Given the description of an element on the screen output the (x, y) to click on. 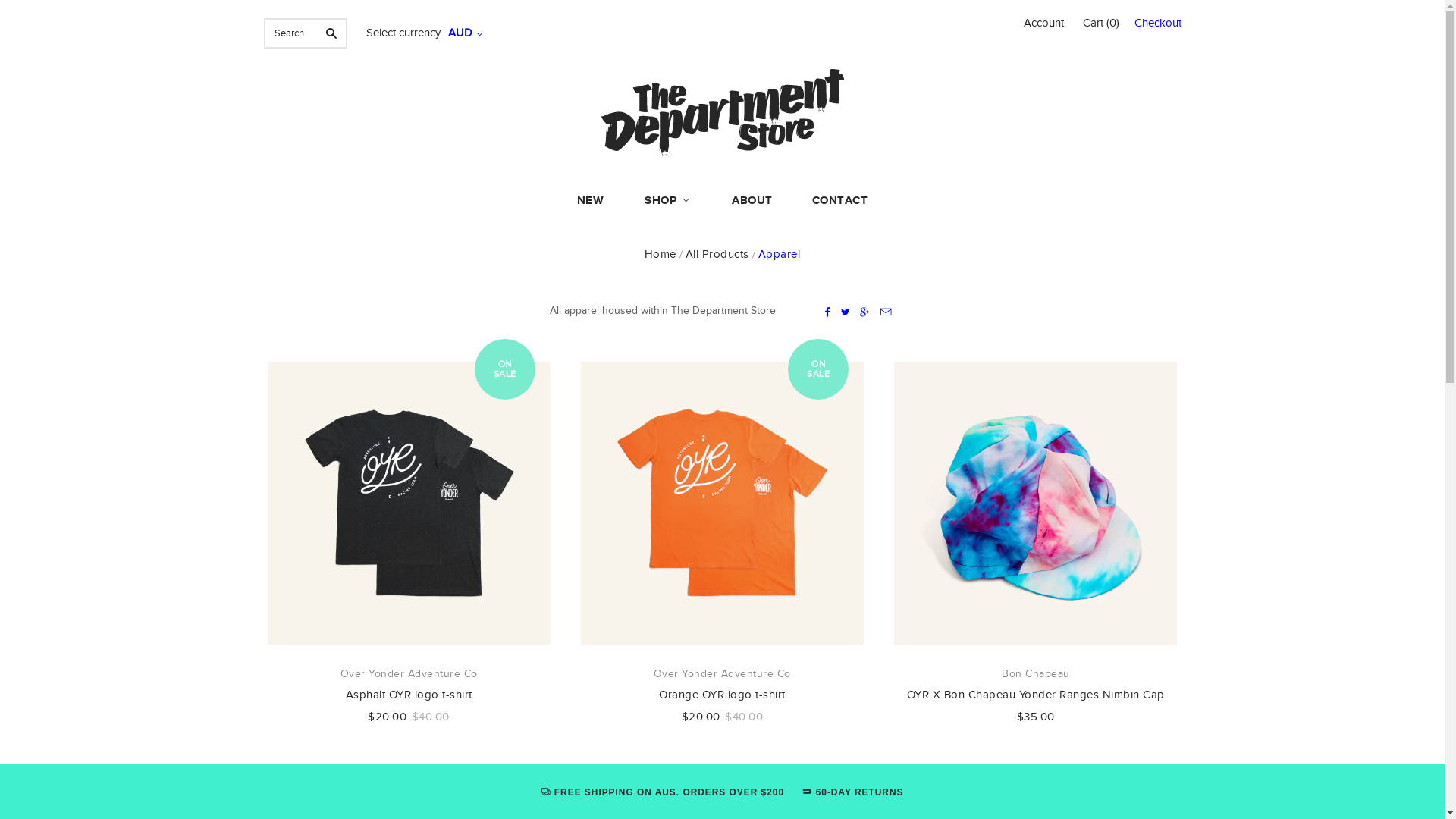
SHOP Element type: text (667, 200)
All Products Element type: text (717, 253)
NEW Element type: text (590, 200)
CONTACT Element type: text (840, 200)
Orange OYR logo t-shirt Element type: text (721, 694)
Bon Chapeau Element type: text (1035, 674)
ABOUT Element type: text (752, 200)
Home Element type: text (660, 253)
Asphalt OYR logo t-shirt Element type: text (408, 694)
OYR X Bon Chapeau Yonder Ranges Nimbin Cap Element type: text (1035, 694)
Checkout Element type: text (1157, 25)
Account Element type: text (1043, 22)
Over Yonder Adventure Co Element type: text (721, 674)
Cart (0) Element type: text (1100, 23)
Over Yonder Adventure Co Element type: text (408, 674)
